Given the description of an element on the screen output the (x, y) to click on. 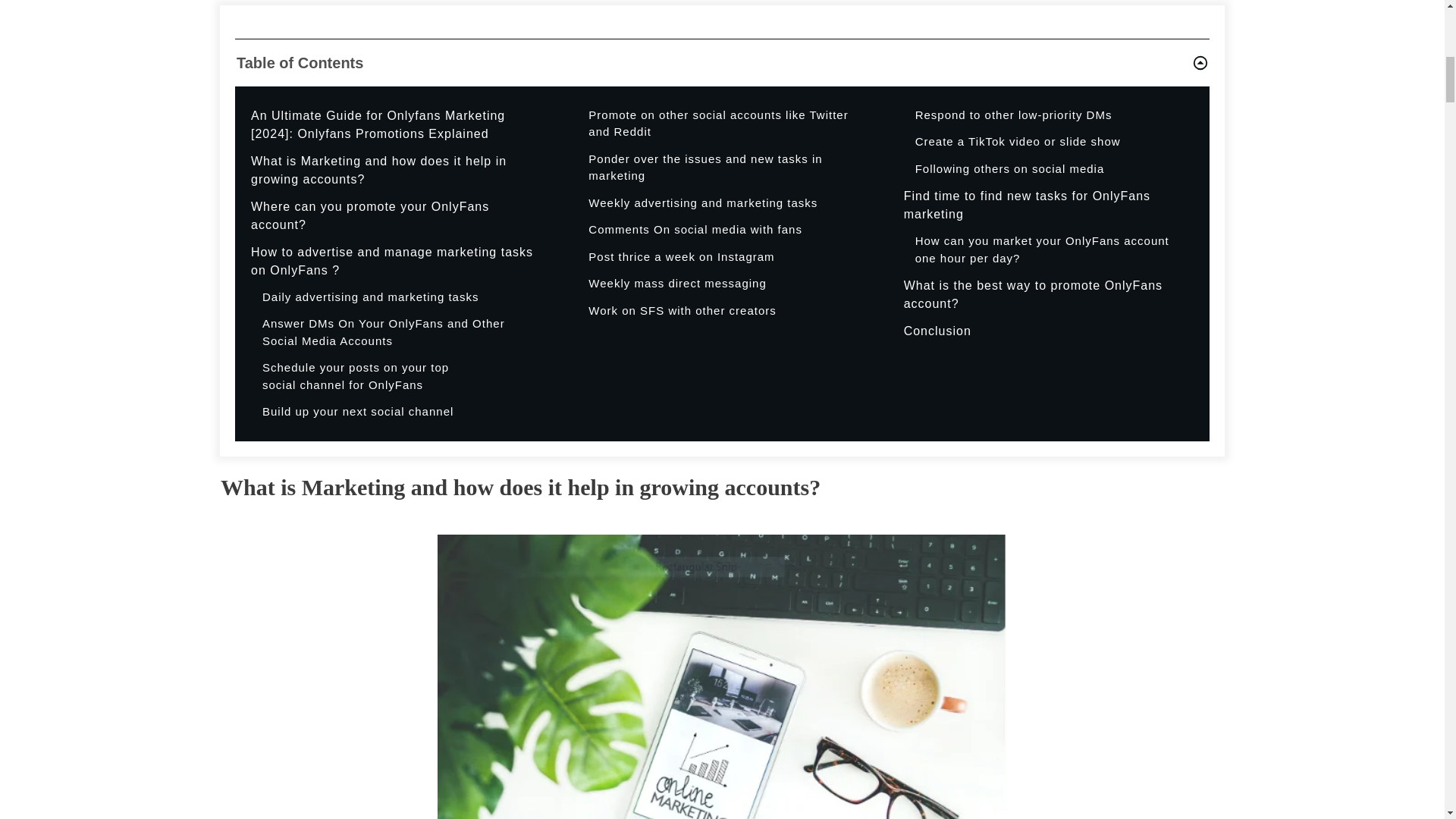
Weekly mass direct messaging (676, 283)
Create a TikTok video or slide show (1018, 141)
Find time to find new tasks for OnlyFans marketing (1046, 205)
Following others on social media (1010, 169)
Answer DMs On Your OnlyFans and Other Social Media Accounts (399, 332)
Conclusion (937, 331)
What is Marketing and how does it help in growing accounts? (393, 169)
Comments On social media with fans (695, 230)
What is the best way to promote OnlyFans account? (1046, 294)
Conclusion (937, 331)
Following others on social media (1010, 169)
Where can you promote your OnlyFans account? (393, 215)
What is Marketing and how does it help in growing accounts? (393, 169)
Post thrice a week on Instagram (681, 257)
